Given the description of an element on the screen output the (x, y) to click on. 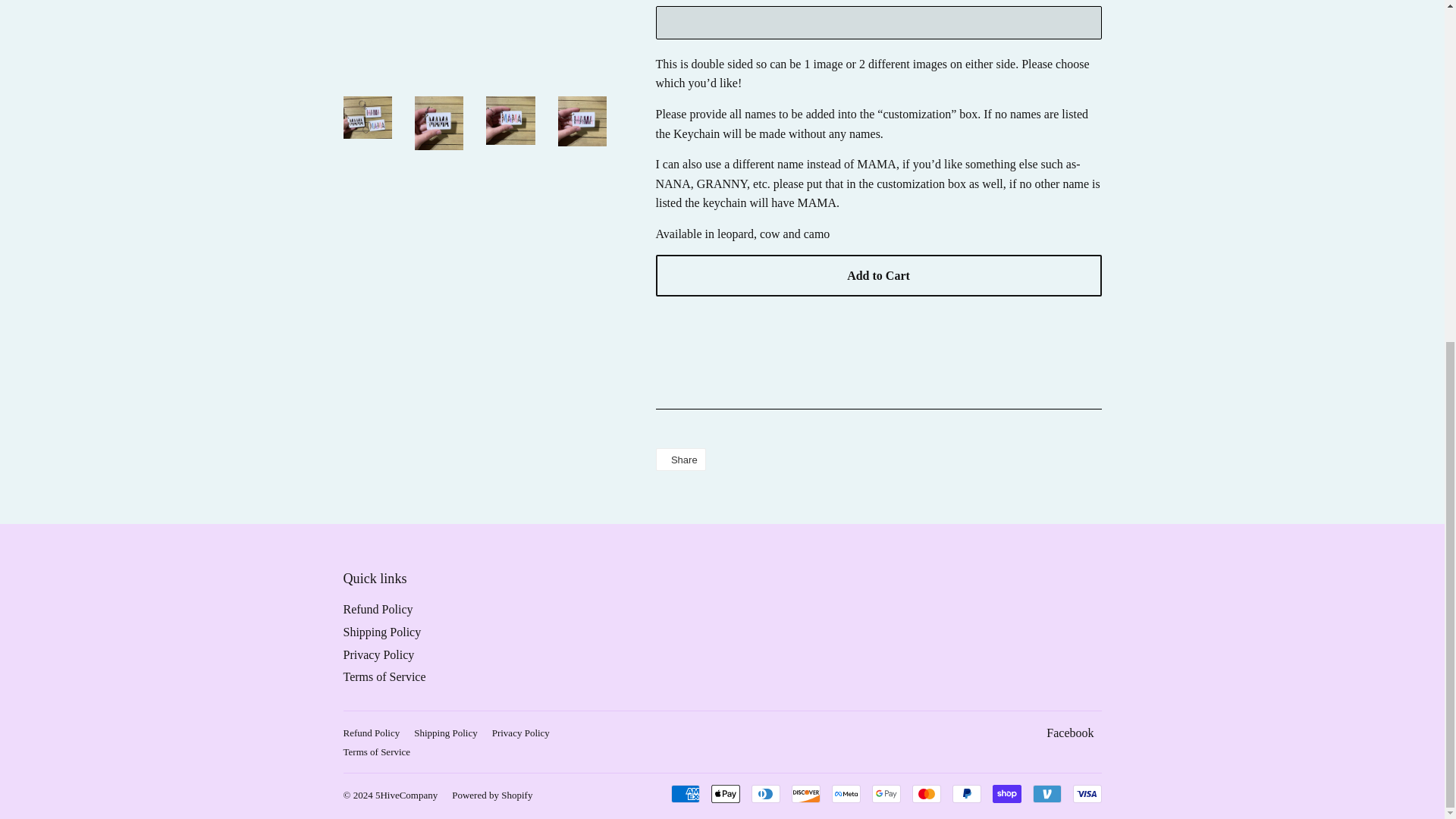
Apple Pay (725, 793)
Google Pay (886, 793)
Shop Pay (1005, 793)
Share on Facebook (679, 458)
Visa (1085, 793)
American Express (683, 793)
5HiveCompany on Facebook (1069, 732)
Discover (806, 793)
Diners Club (764, 793)
Venmo (1046, 793)
